Given the description of an element on the screen output the (x, y) to click on. 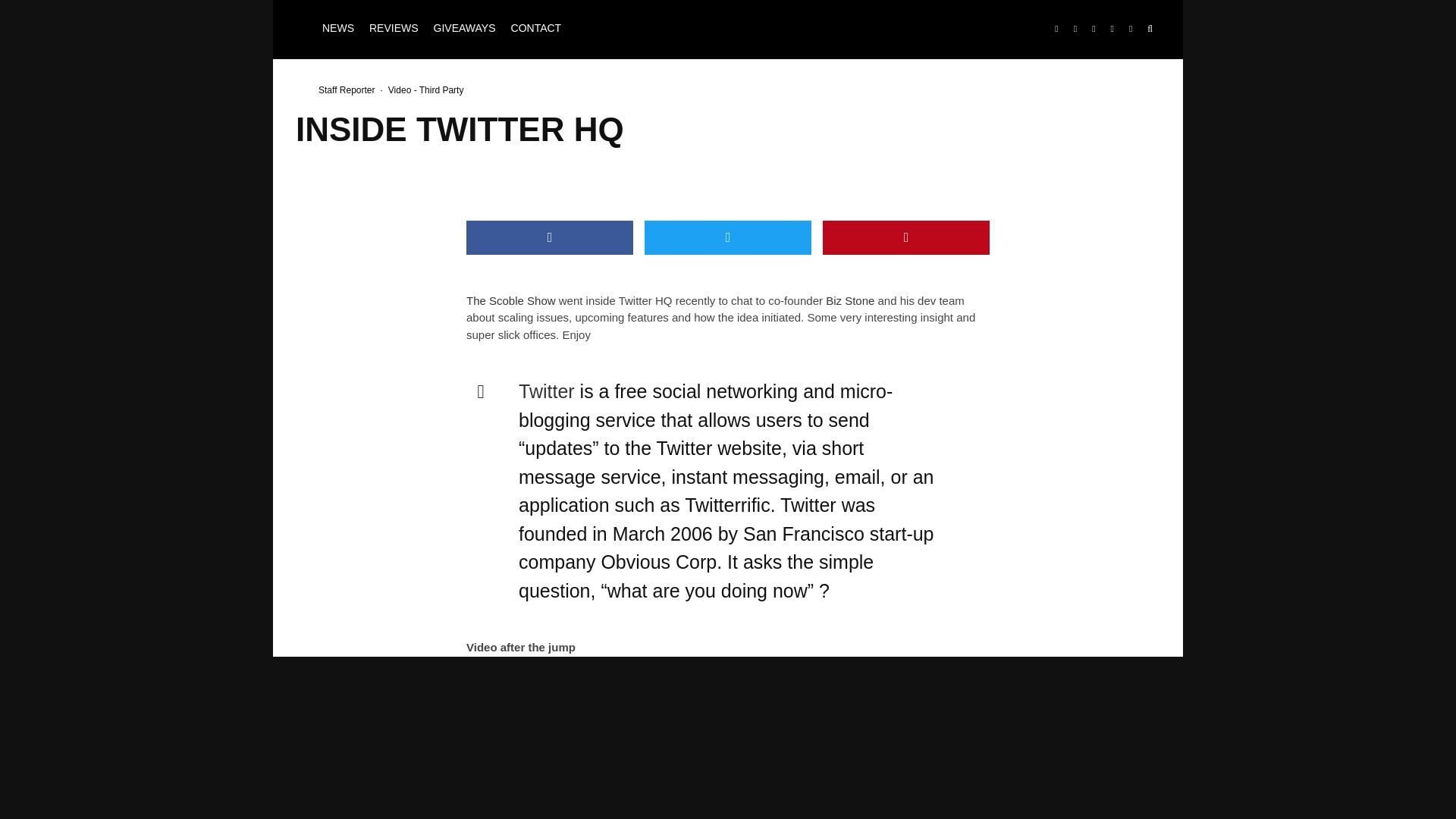
Staff Reporter (346, 90)
REVIEWS (393, 29)
GIVEAWAYS (464, 29)
CONTACT (536, 29)
